Given the description of an element on the screen output the (x, y) to click on. 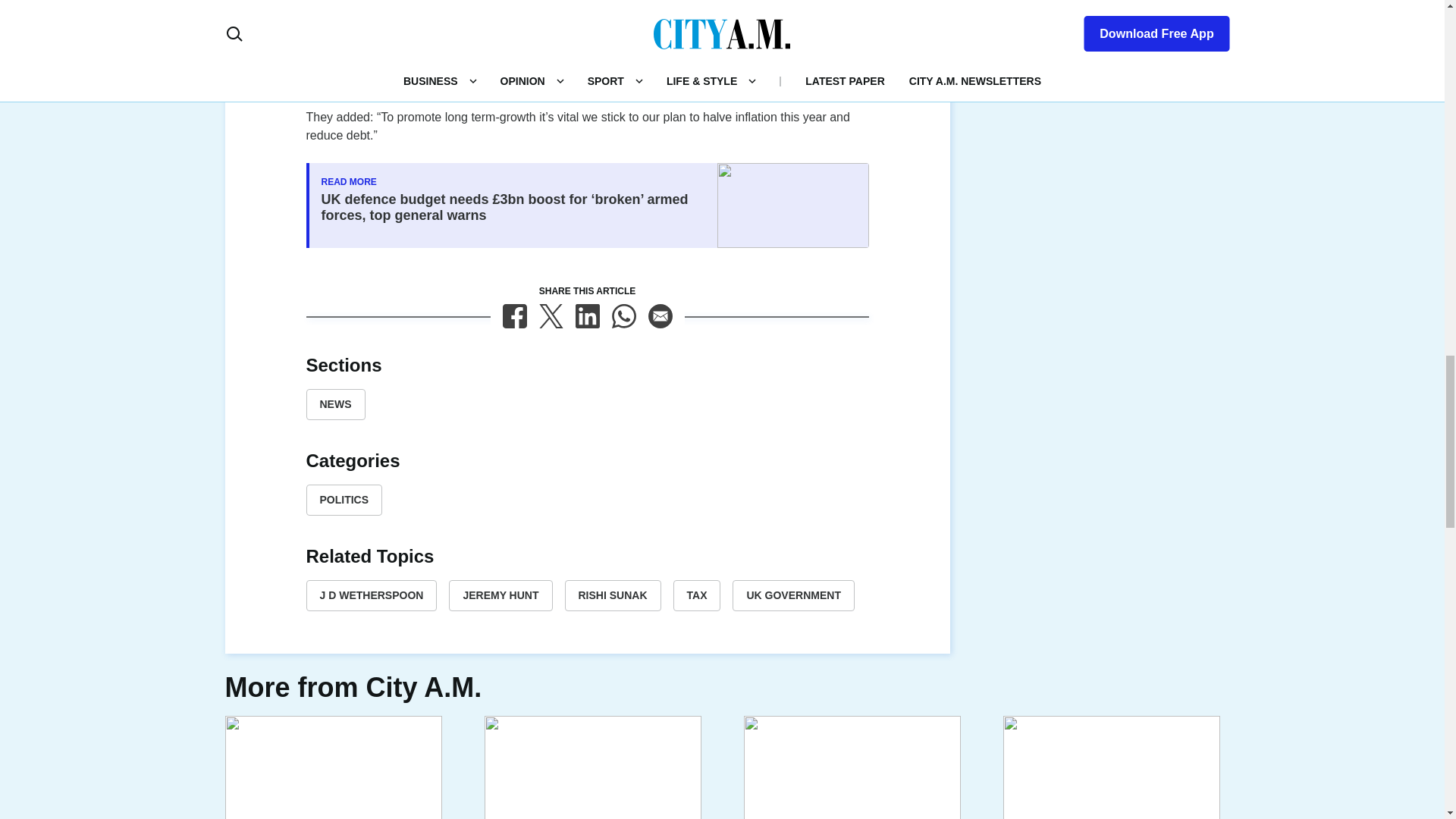
LinkedIn (586, 315)
WhatsApp (622, 315)
X (550, 315)
Facebook (513, 315)
Email (659, 315)
